Given the description of an element on the screen output the (x, y) to click on. 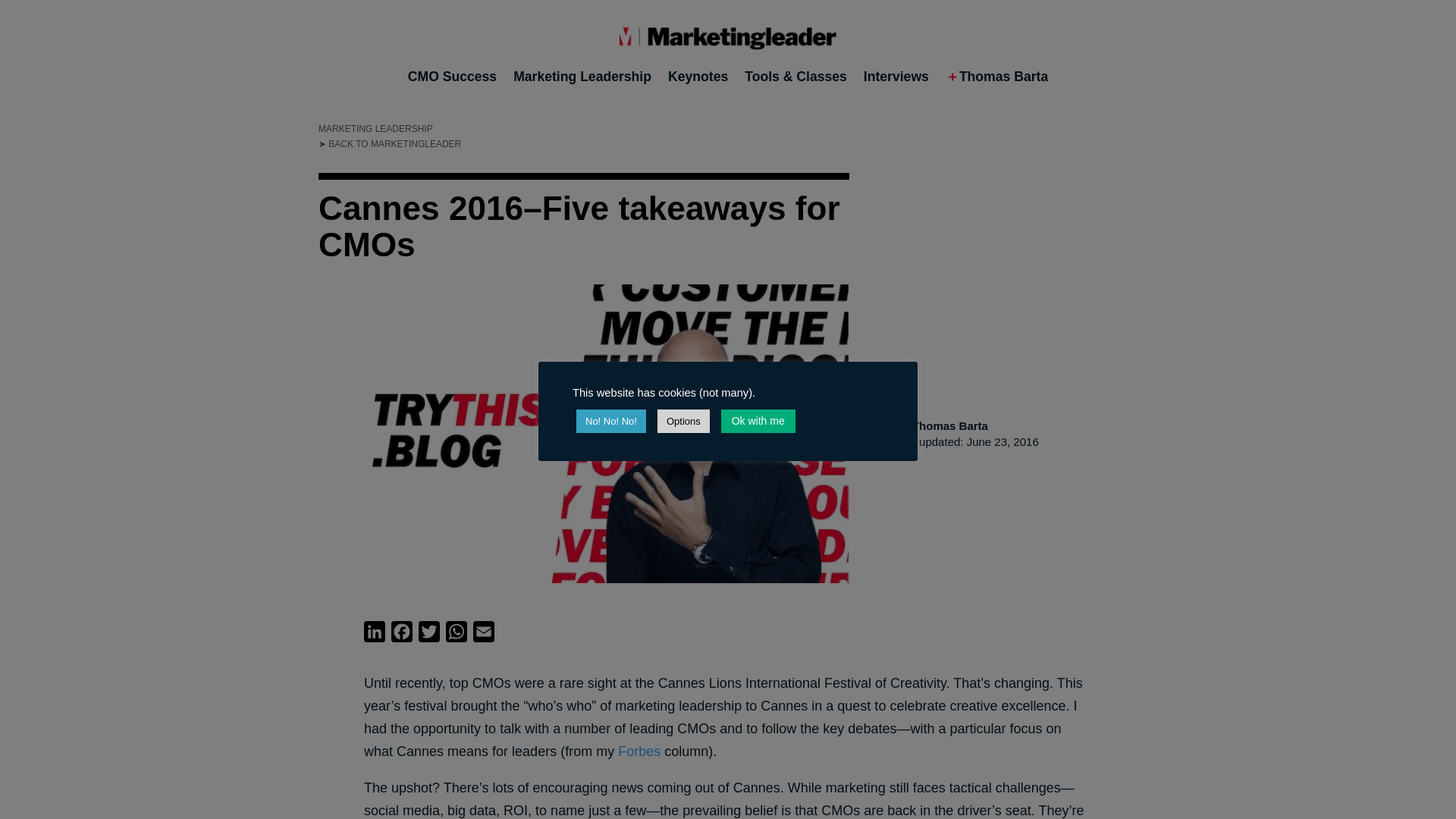
Marketing Leader Logo (727, 38)
Facebook (401, 634)
Twitter (428, 634)
Email (483, 634)
WhatsApp (456, 634)
LinkedIn (374, 634)
